Given the description of an element on the screen output the (x, y) to click on. 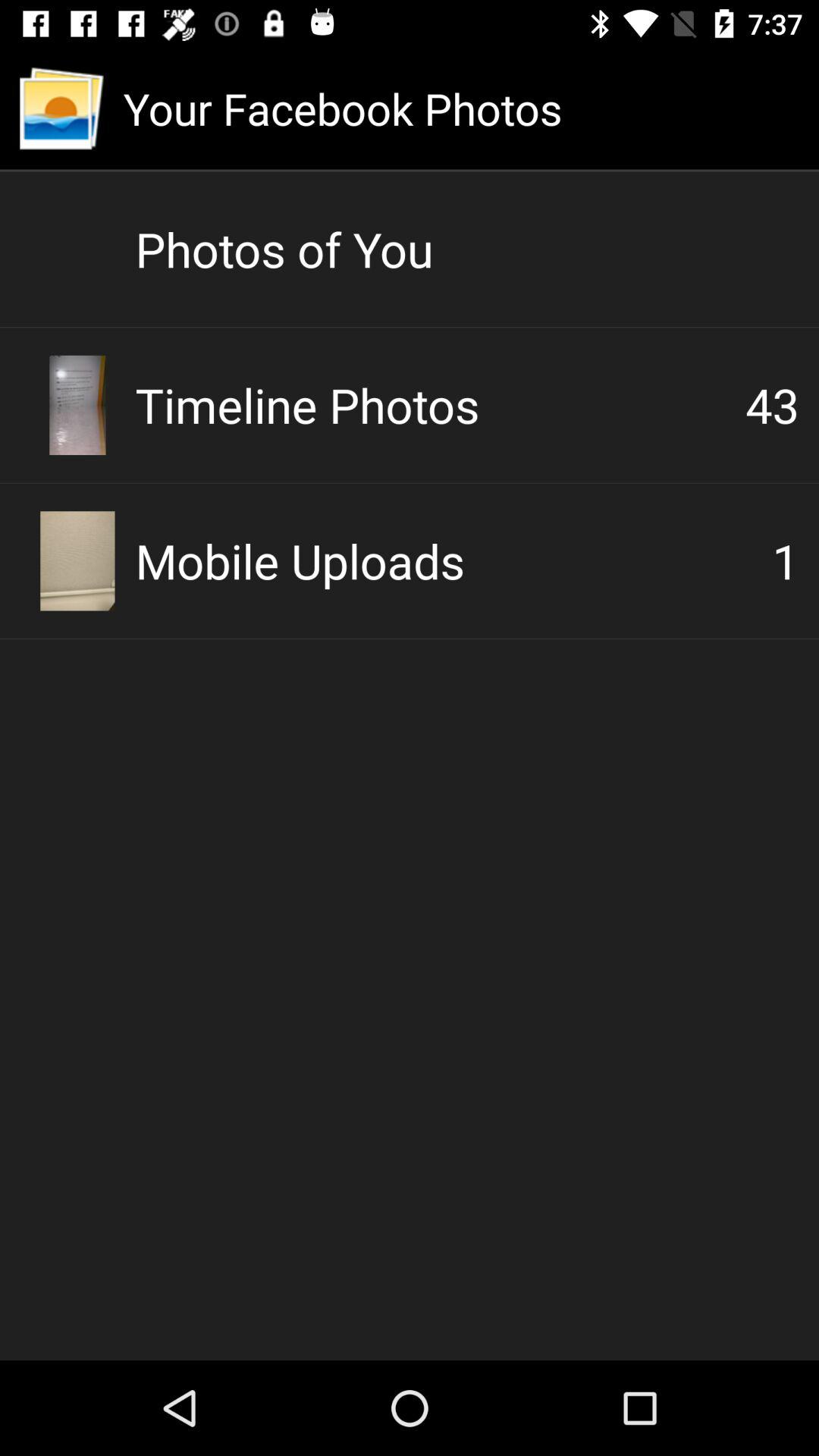
turn on the item below the photos of you (772, 404)
